Given the description of an element on the screen output the (x, y) to click on. 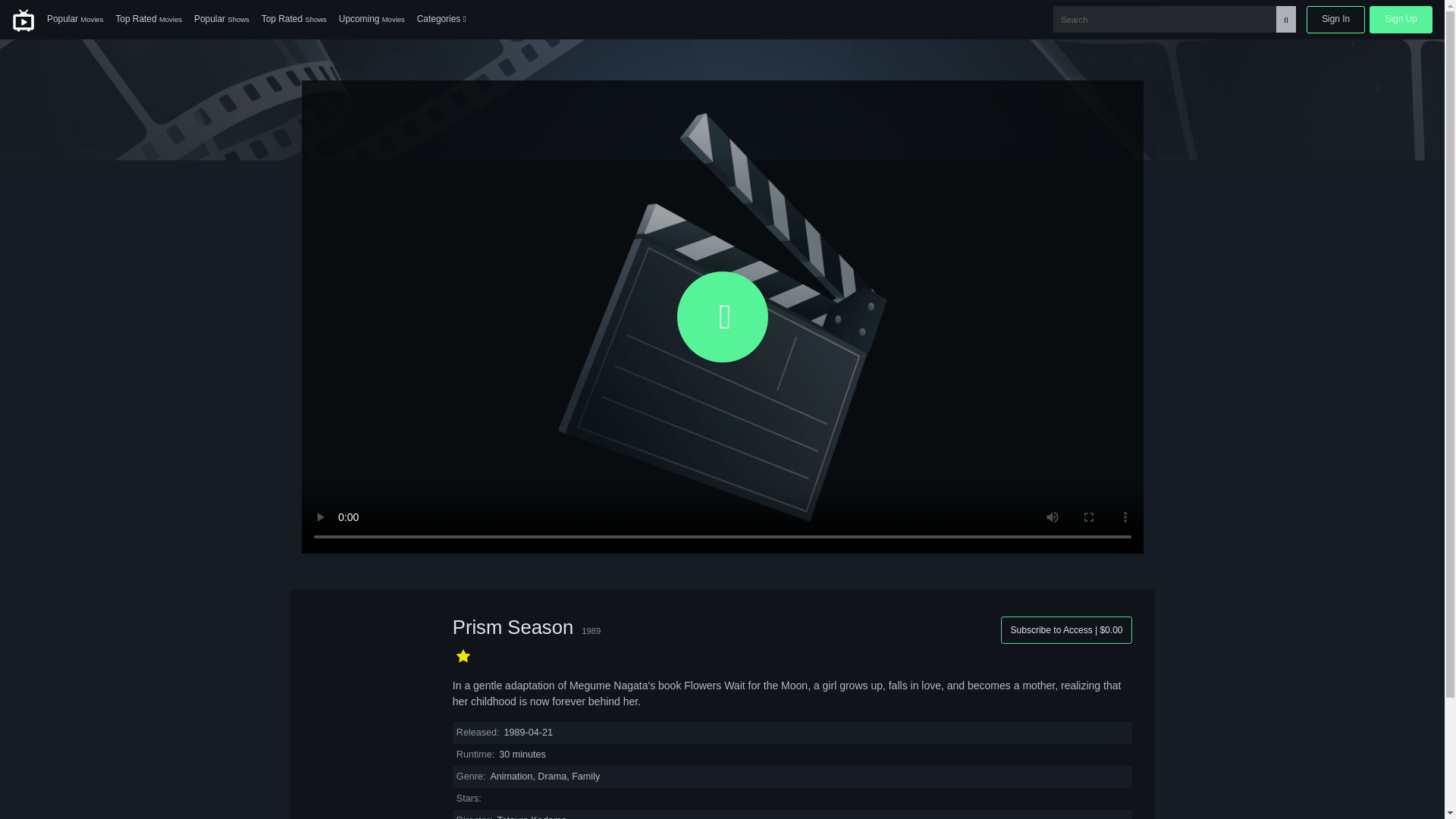
Popular Movies (74, 19)
Popular Shows (221, 19)
Top Rated Movies (148, 19)
Upcoming Movies (371, 19)
Categories (440, 19)
Top Rated Shows (294, 19)
